Given the description of an element on the screen output the (x, y) to click on. 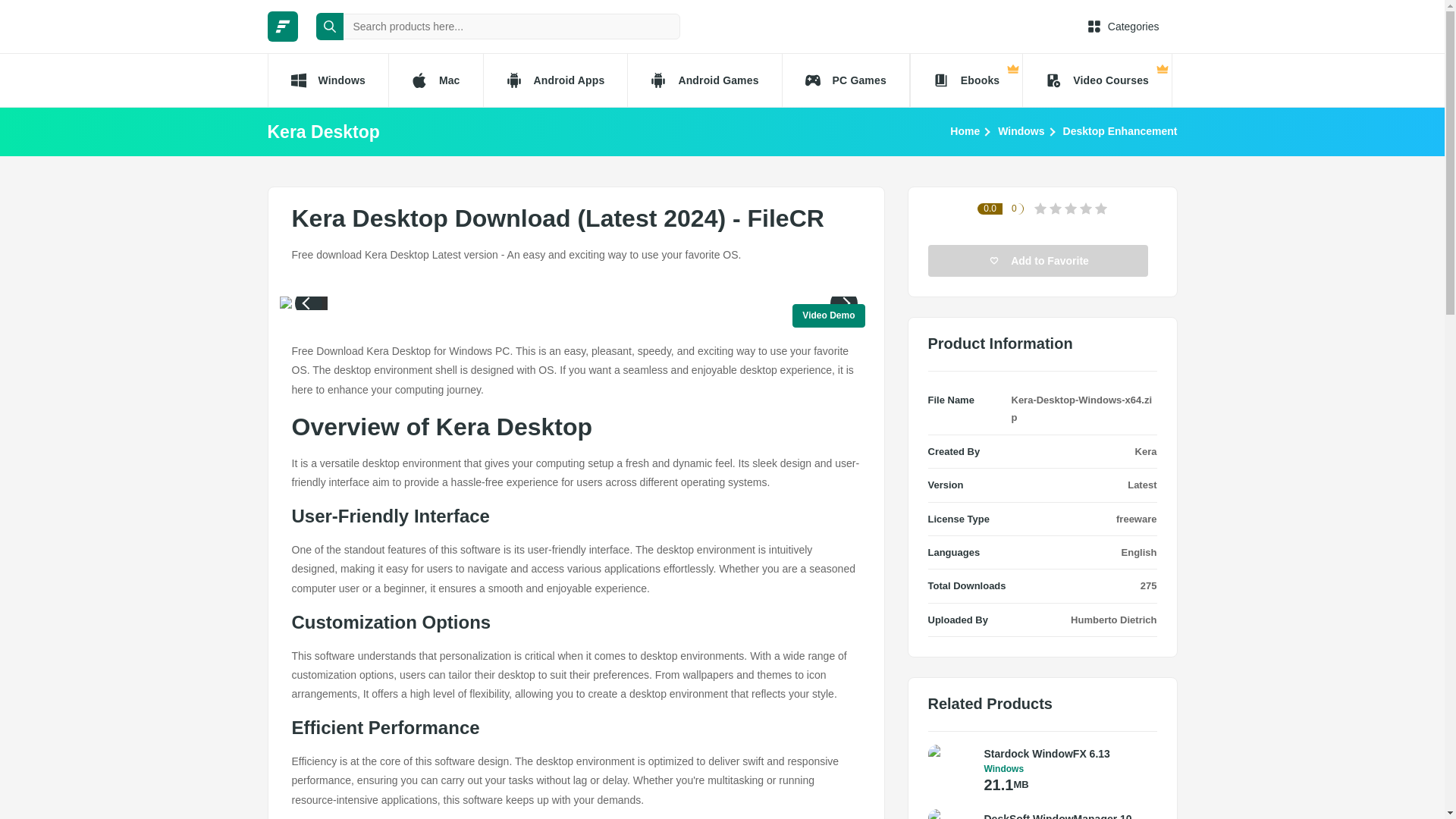
Video Demo (828, 315)
Android Games (703, 80)
Kera (1146, 451)
Windows (1020, 131)
Stardock WindowFX 6.13 (1066, 753)
PC Games (845, 80)
DeskSoft WindowManager 10.19.1 (1066, 814)
Categories (1122, 26)
Android Apps (555, 80)
Windows (326, 80)
Home (964, 131)
Windows (1066, 768)
Add to Favorite (1038, 260)
Mac (435, 80)
Desktop Enhancement (1119, 131)
